Given the description of an element on the screen output the (x, y) to click on. 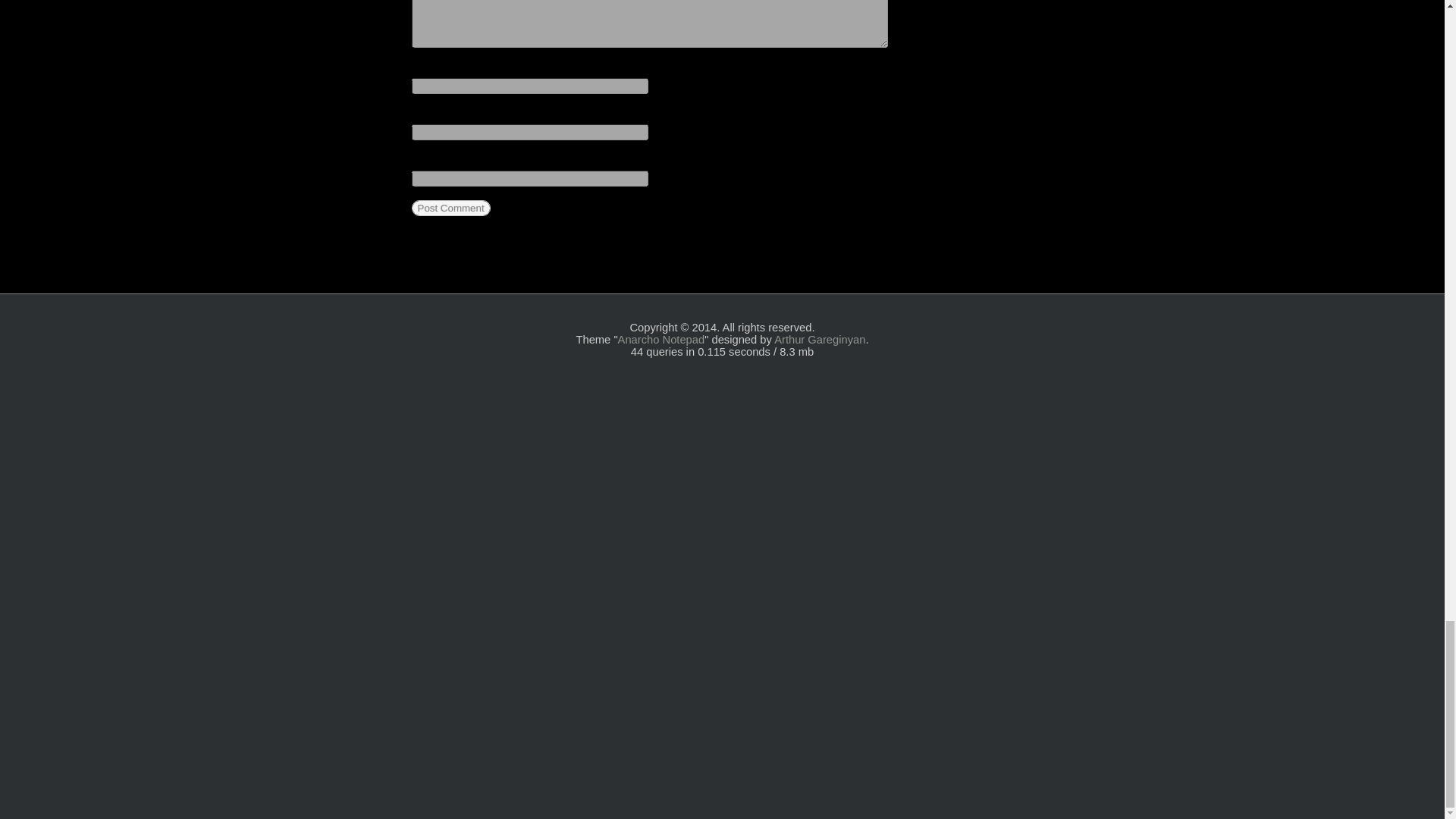
Post Comment (449, 207)
Arthur Gareginyan (819, 339)
Theme page (660, 339)
Theme author (819, 339)
Post Comment (449, 207)
Anarcho Notepad (660, 339)
